Given the description of an element on the screen output the (x, y) to click on. 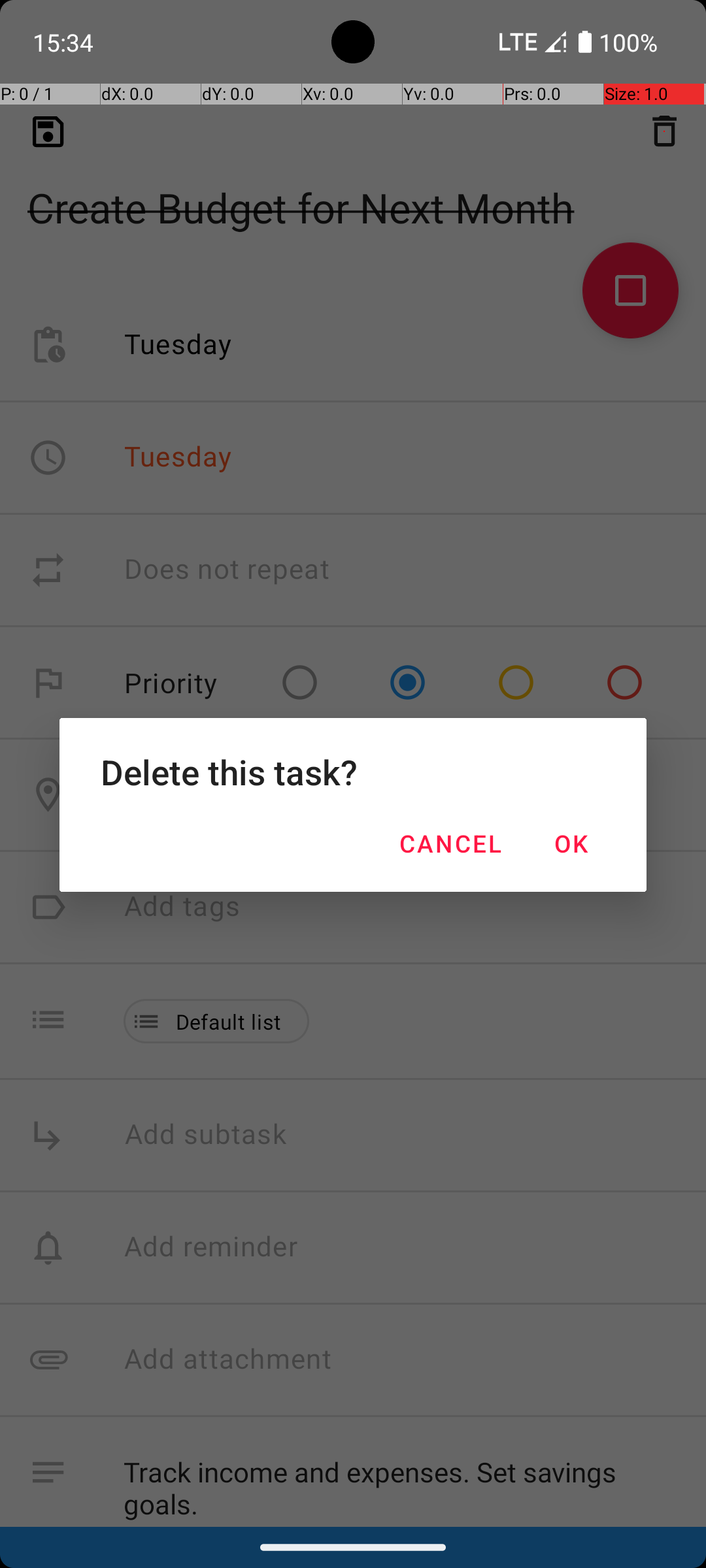
Delete this task? Element type: android.widget.TextView (352, 771)
